Given the description of an element on the screen output the (x, y) to click on. 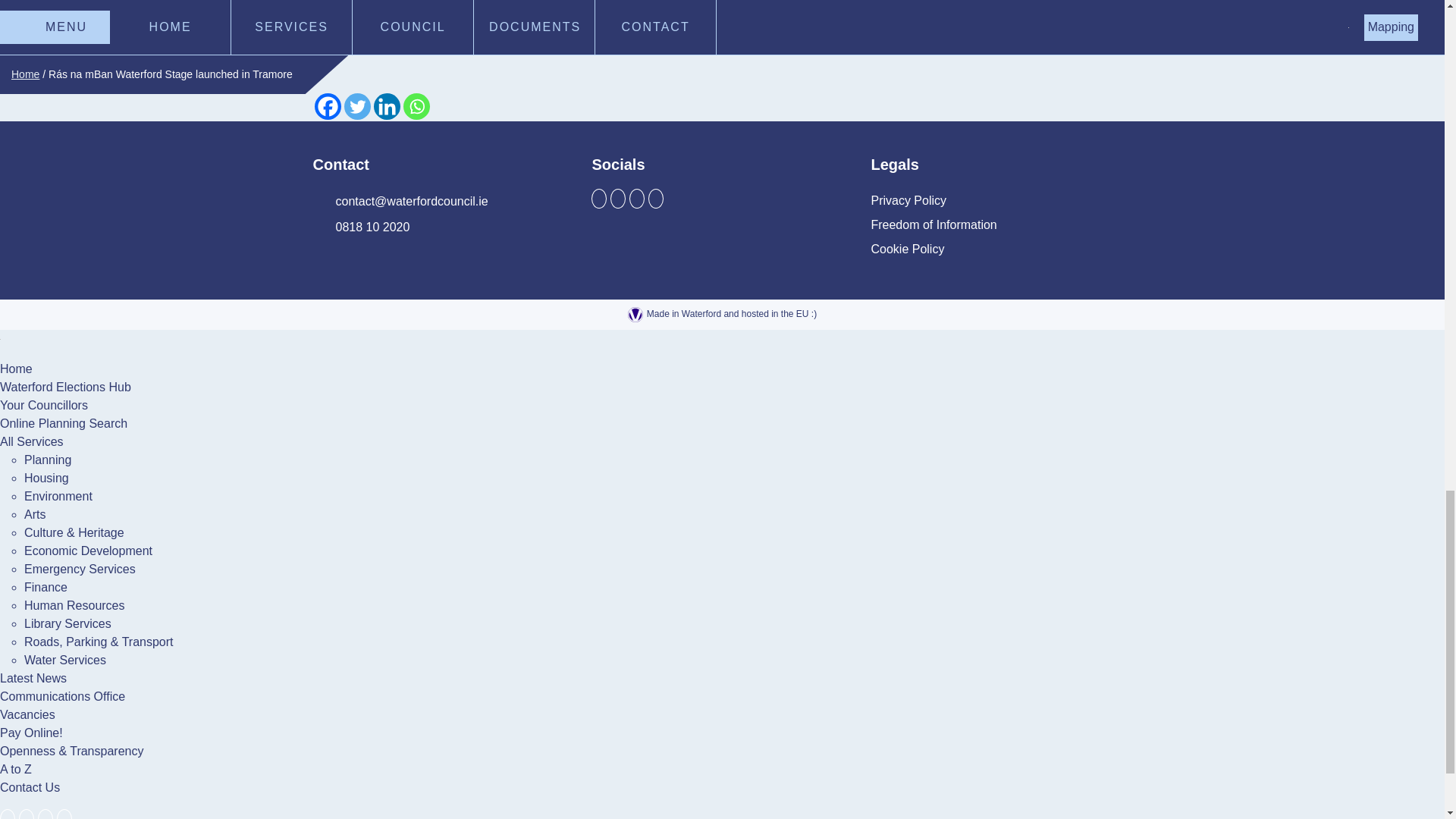
Privacy Policy (908, 200)
Whatsapp (416, 106)
Cookie Policy (906, 249)
Freedom of Information (932, 224)
Twitter (357, 106)
Linkedin (385, 106)
0818 10 2020 (361, 227)
Facebook (327, 106)
